Given the description of an element on the screen output the (x, y) to click on. 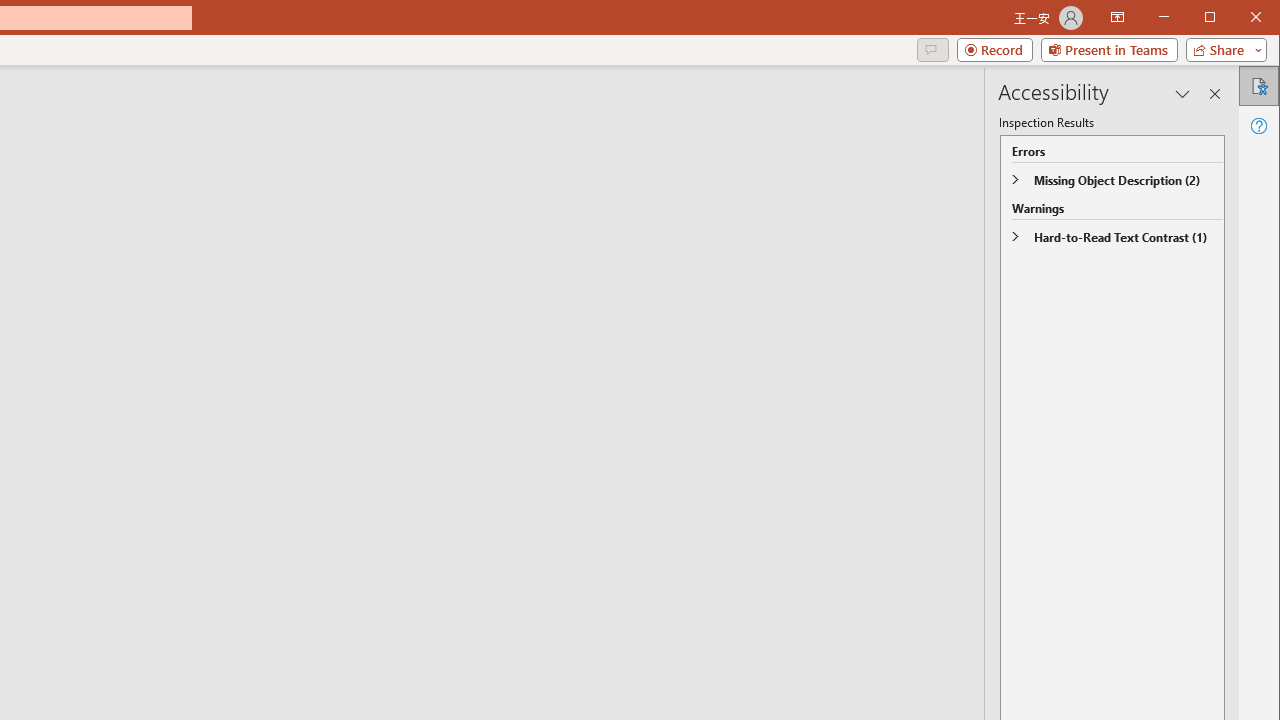
Record (994, 49)
Task Pane Options (1183, 93)
Close (1261, 18)
Share (1222, 49)
Close pane (1215, 93)
Ribbon Display Options (1117, 17)
Present in Teams (1108, 49)
Minimize (1216, 18)
Maximize (1238, 18)
Comments (932, 49)
Help (1258, 125)
Accessibility (1258, 85)
